Given the description of an element on the screen output the (x, y) to click on. 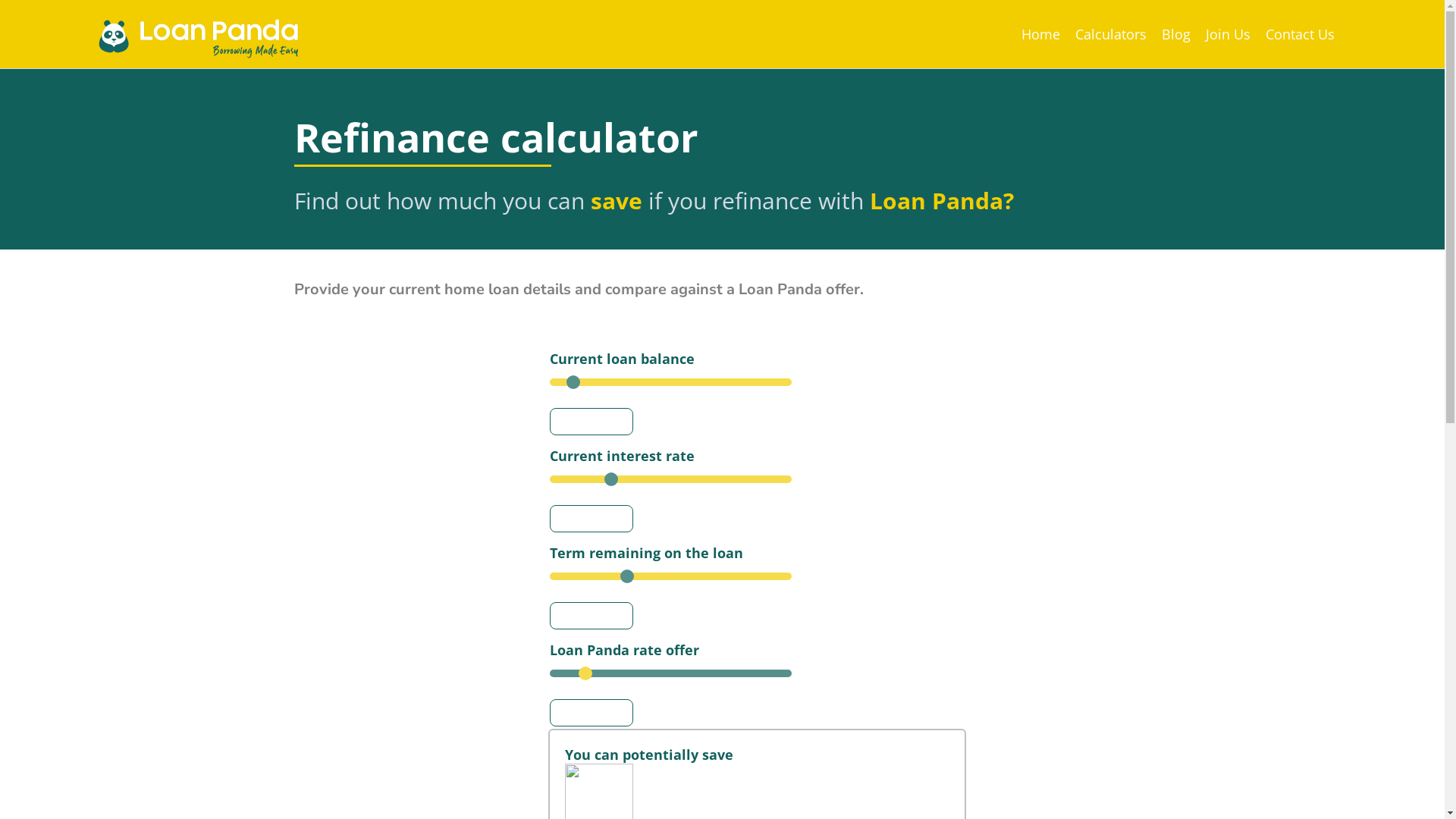
Contact Us Element type: text (1300, 34)
Join Us Element type: text (1228, 34)
Blog Element type: text (1176, 34)
Calculators Element type: text (1110, 34)
Home Element type: text (1040, 34)
